Given the description of an element on the screen output the (x, y) to click on. 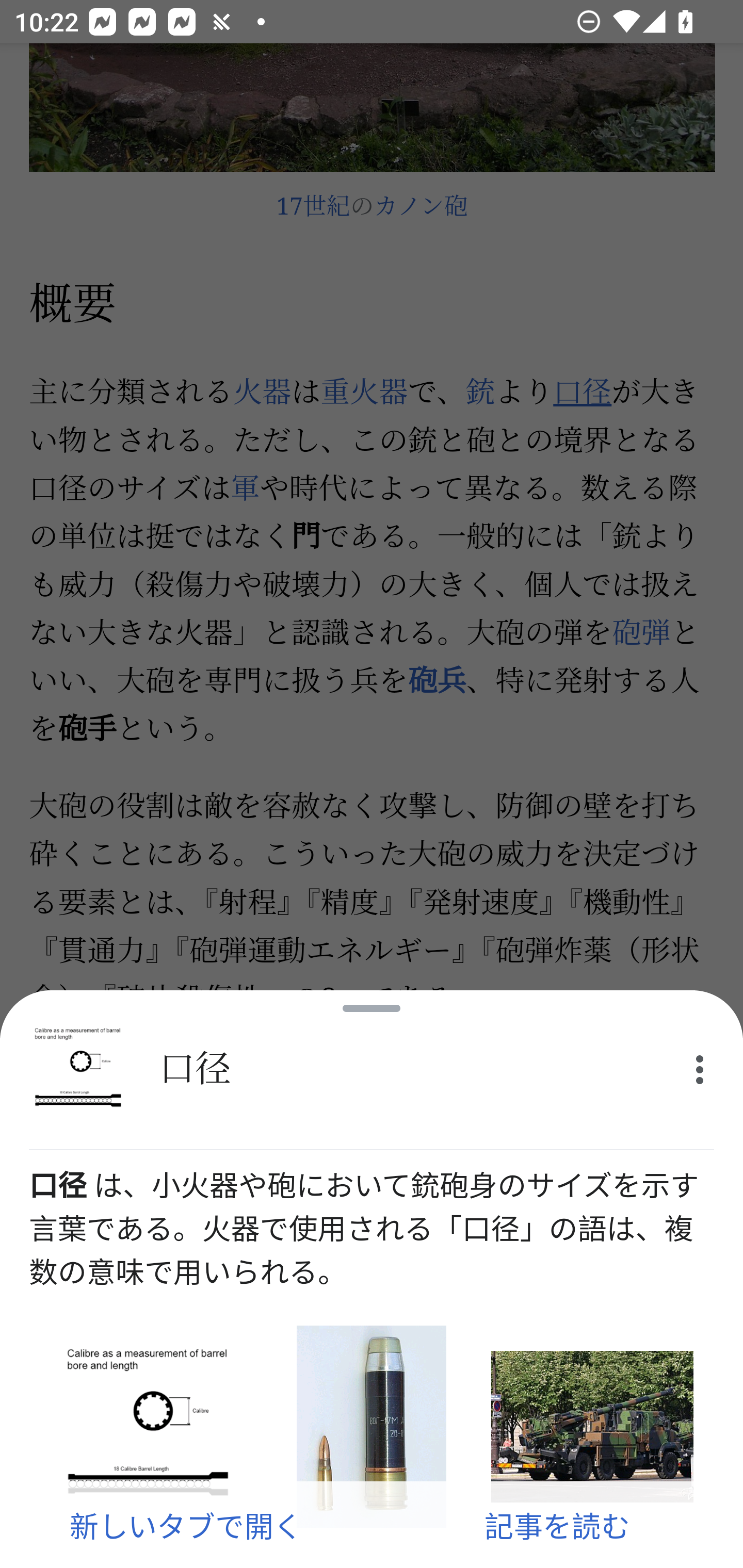
口径 More options (371, 1069)
More options (699, 1070)
新しいタブで開く (185, 1524)
記事を読む (557, 1524)
